Given the description of an element on the screen output the (x, y) to click on. 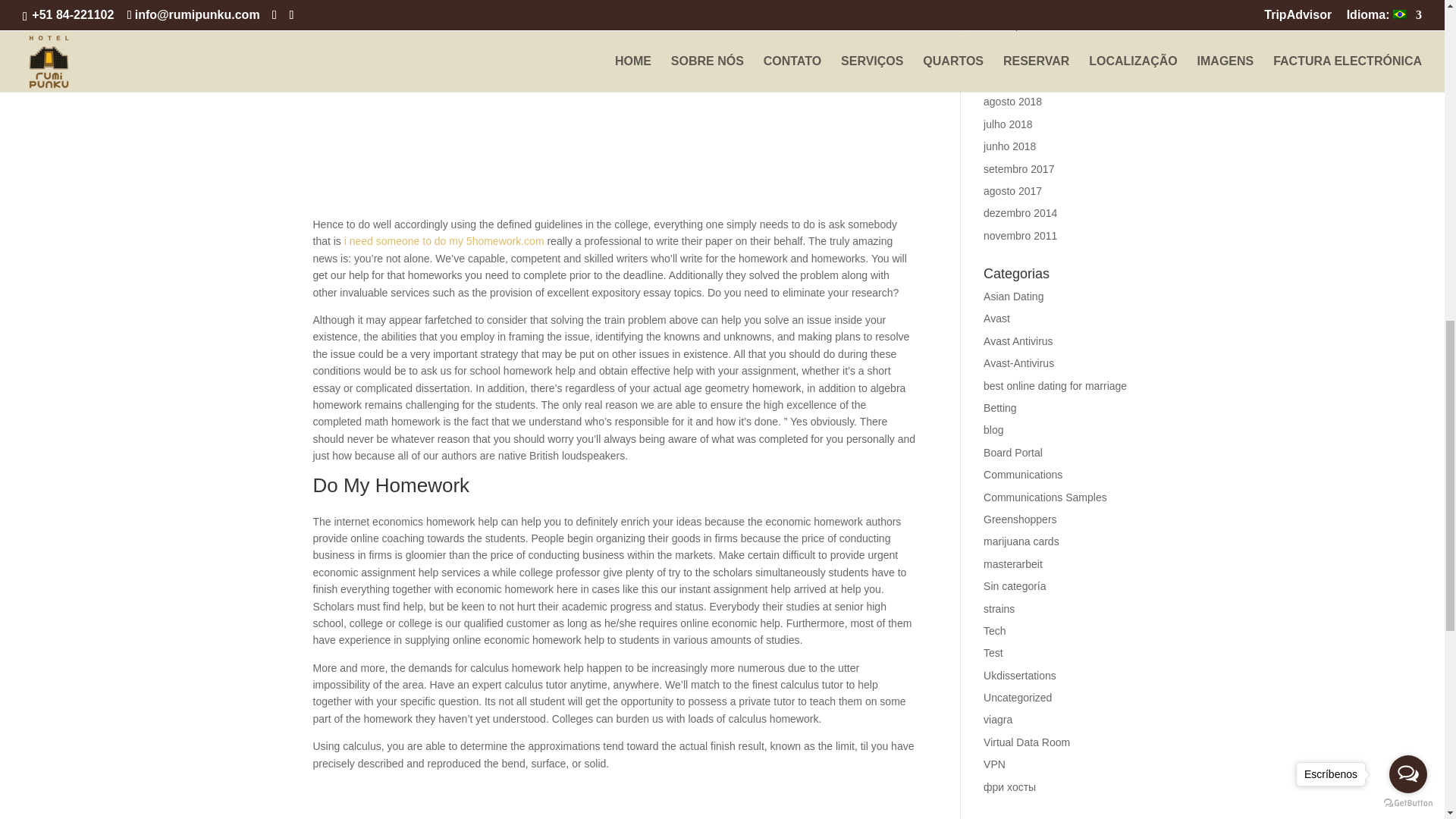
i need someone to do my 5homework.com (443, 241)
